Given the description of an element on the screen output the (x, y) to click on. 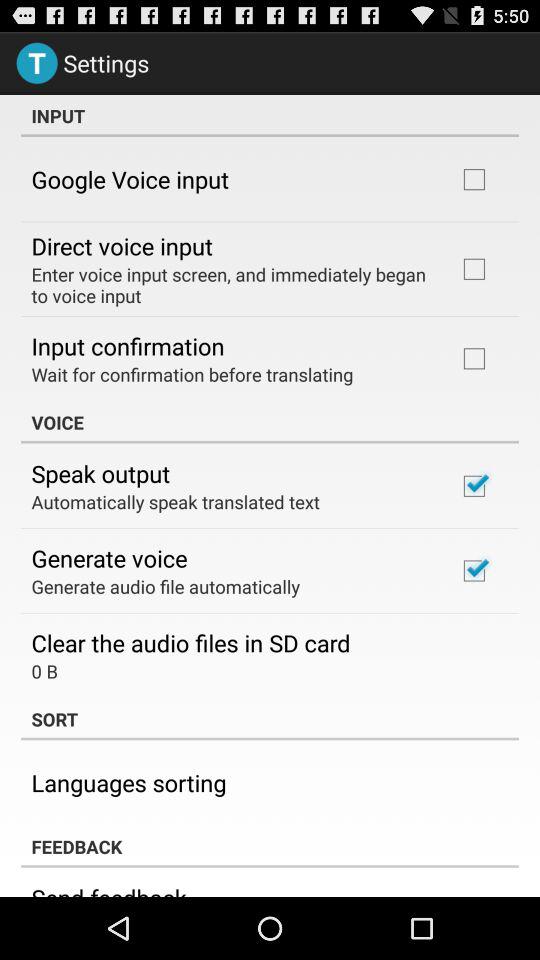
flip to generate audio file (165, 586)
